Given the description of an element on the screen output the (x, y) to click on. 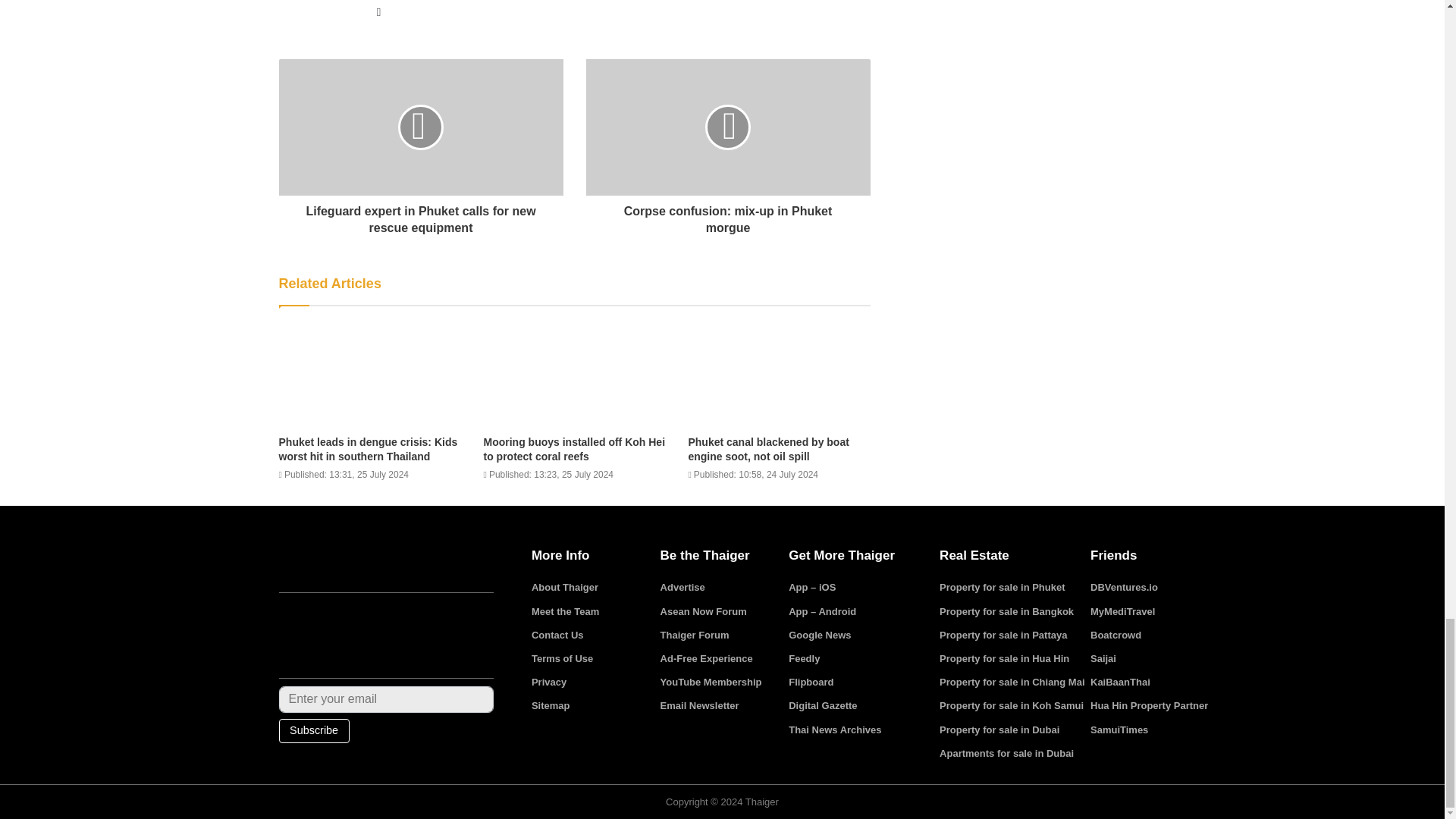
Subscribe (314, 730)
